Given the description of an element on the screen output the (x, y) to click on. 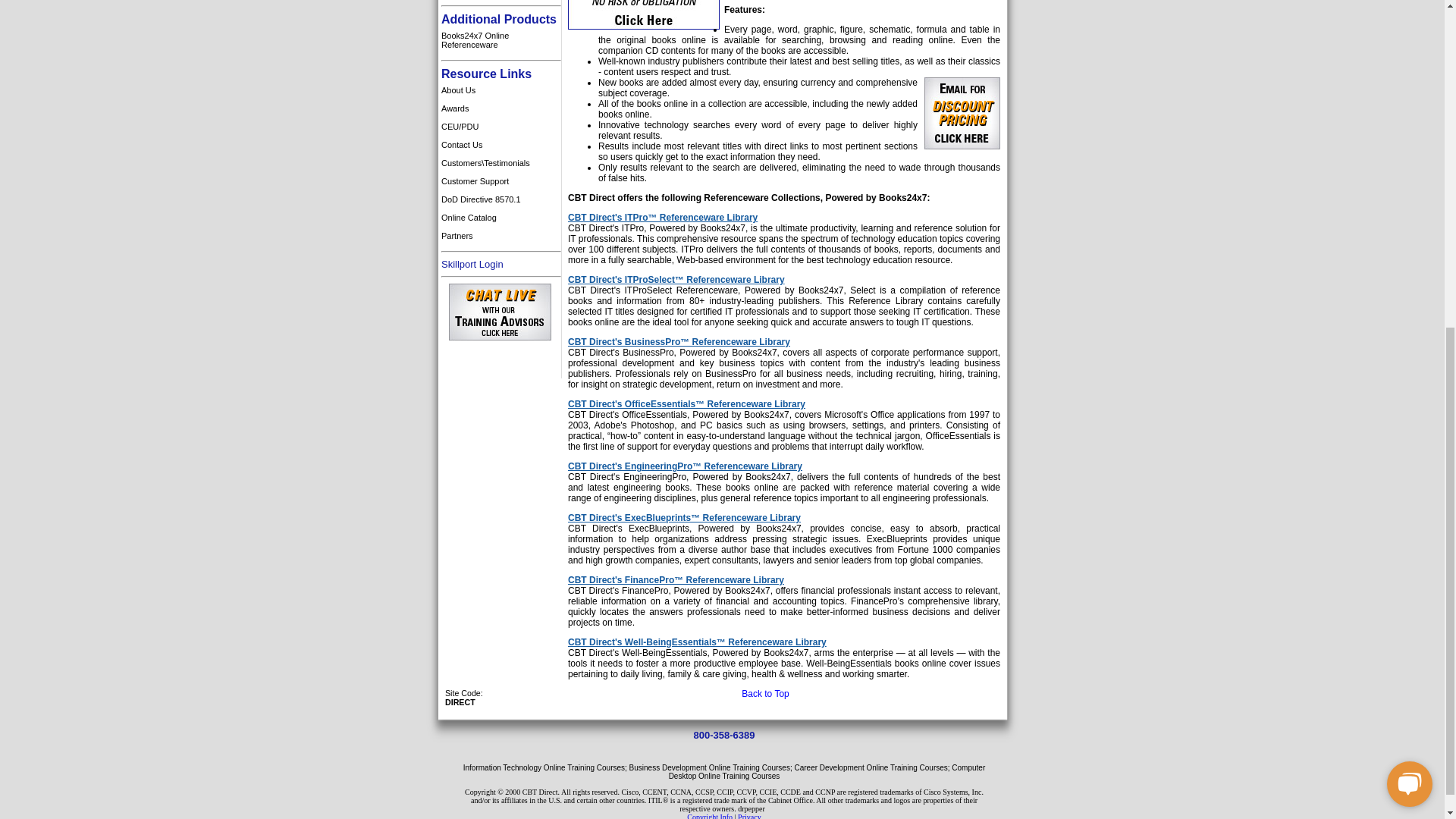
Books24x7 Online Referenceware (500, 40)
Awards (500, 108)
DoD Directive 8570.1 (500, 199)
Partners (500, 235)
Back to Top (765, 693)
Customer Support (500, 180)
About Us (500, 90)
Skillport Login (472, 263)
Contact Us (500, 144)
Online Catalog (500, 217)
